Given the description of an element on the screen output the (x, y) to click on. 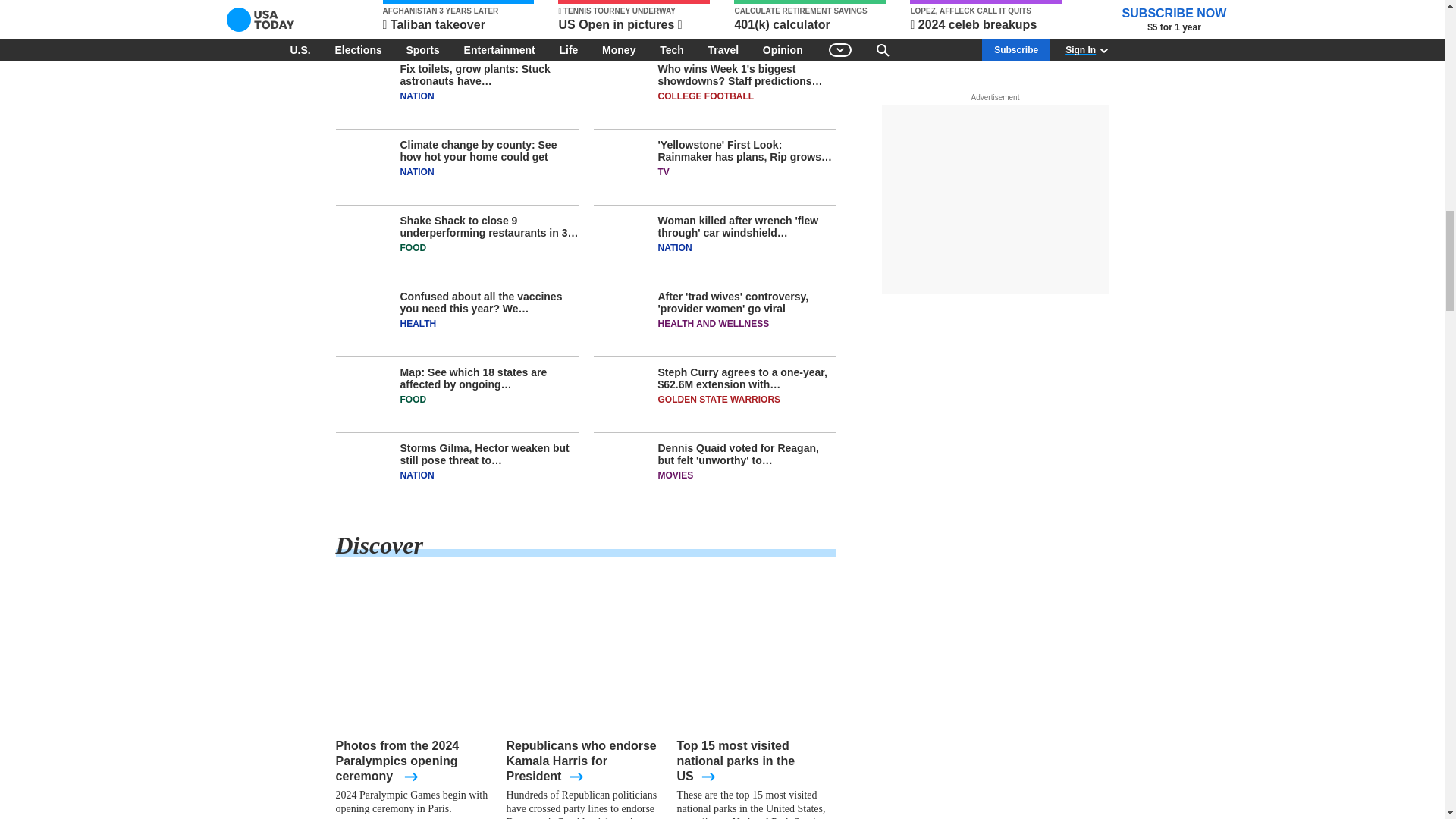
Storms Gilma, Hector weaken but still pose threat to Hawaii (456, 470)
